Given the description of an element on the screen output the (x, y) to click on. 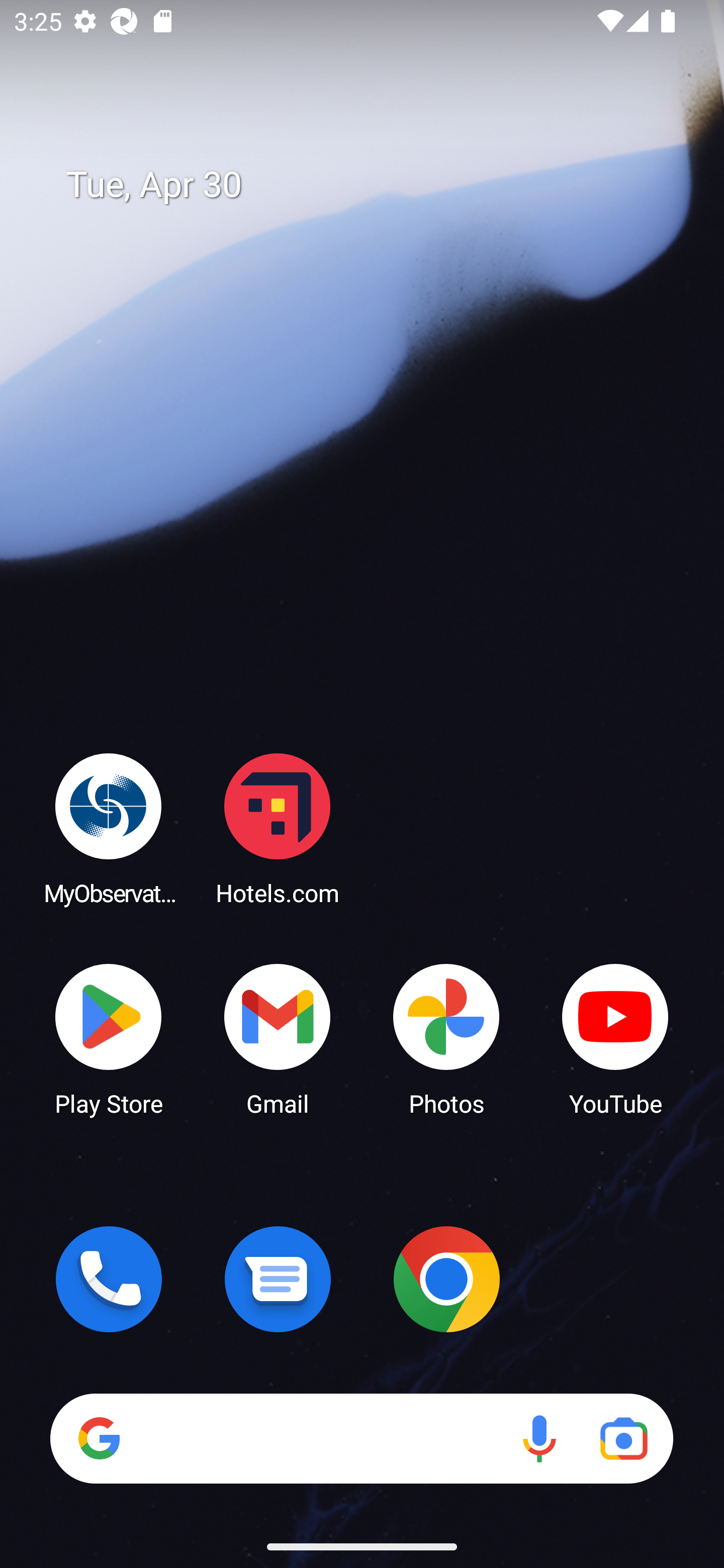
Tue, Apr 30 (375, 184)
MyObservatory (108, 828)
Hotels.com (277, 828)
Play Store (108, 1038)
Gmail (277, 1038)
Photos (445, 1038)
YouTube (615, 1038)
Phone (108, 1279)
Messages (277, 1279)
Chrome (446, 1279)
Voice search (539, 1438)
Google Lens (623, 1438)
